Given the description of an element on the screen output the (x, y) to click on. 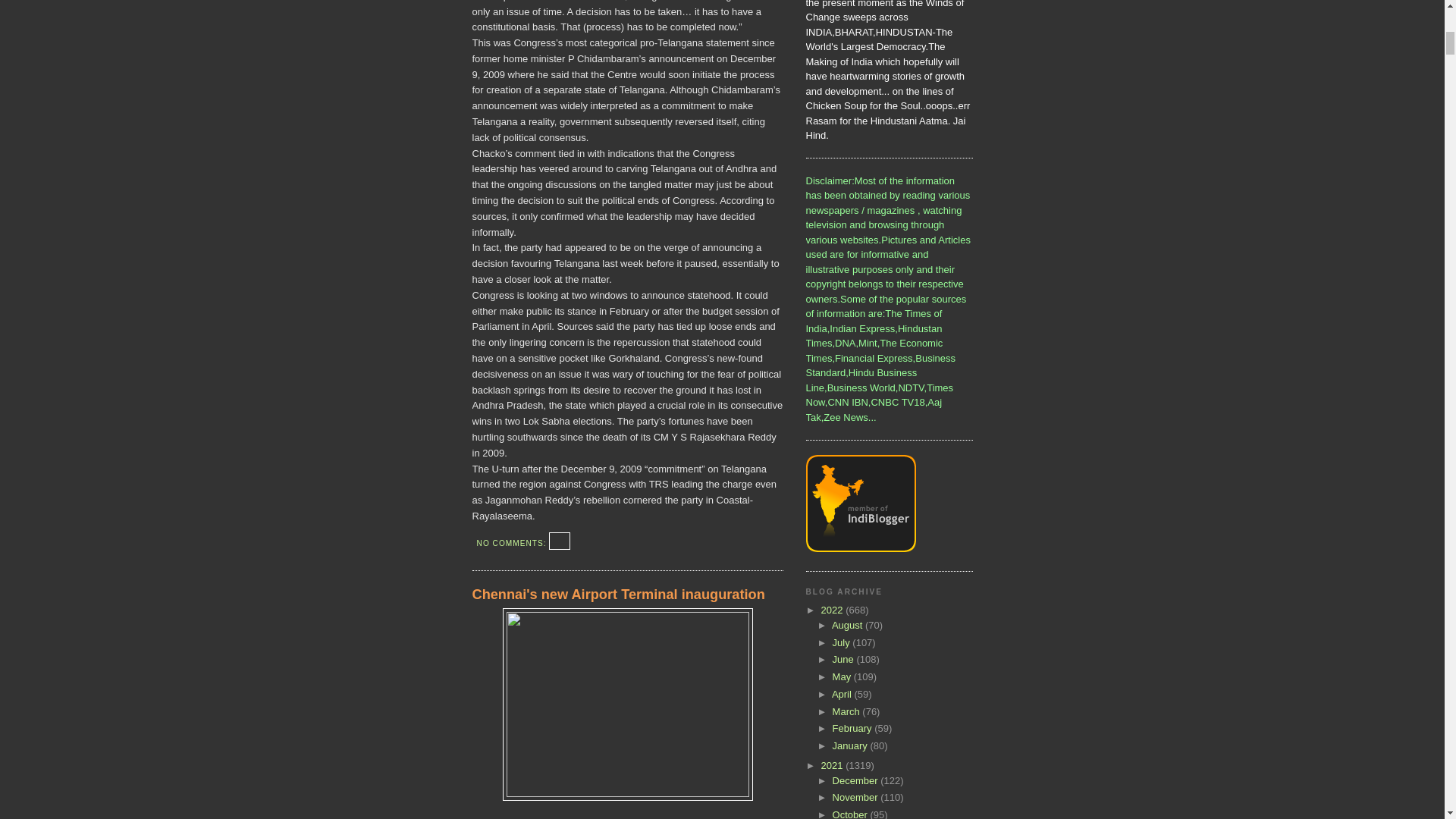
NO COMMENTS: (513, 542)
Chennai's new Airport Terminal inauguration (627, 594)
Email Post (559, 542)
